Given the description of an element on the screen output the (x, y) to click on. 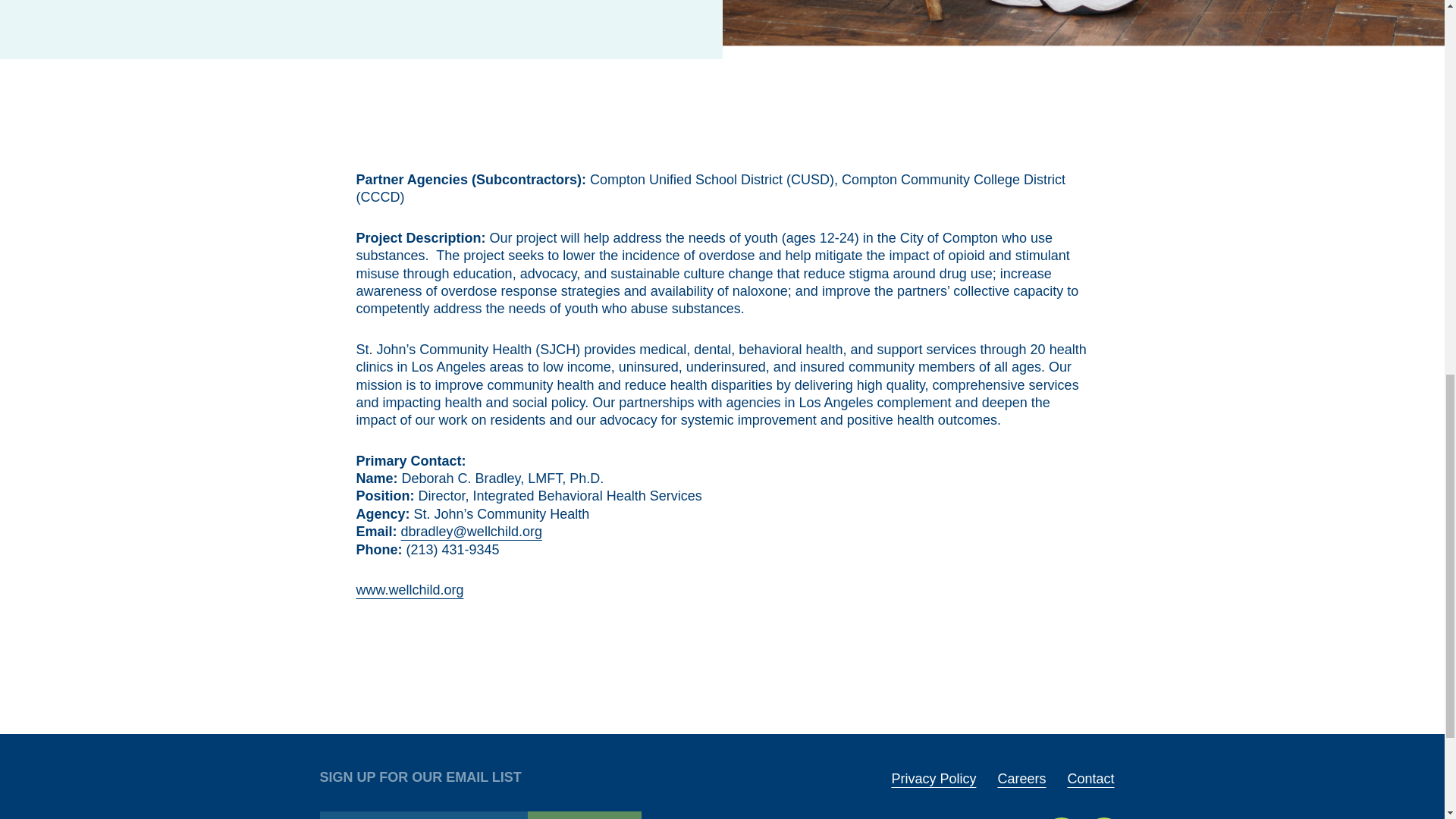
www.wellchild.org (410, 589)
Privacy Policy (933, 778)
Careers (1021, 778)
Submit (584, 815)
Contact (1090, 778)
